Given the description of an element on the screen output the (x, y) to click on. 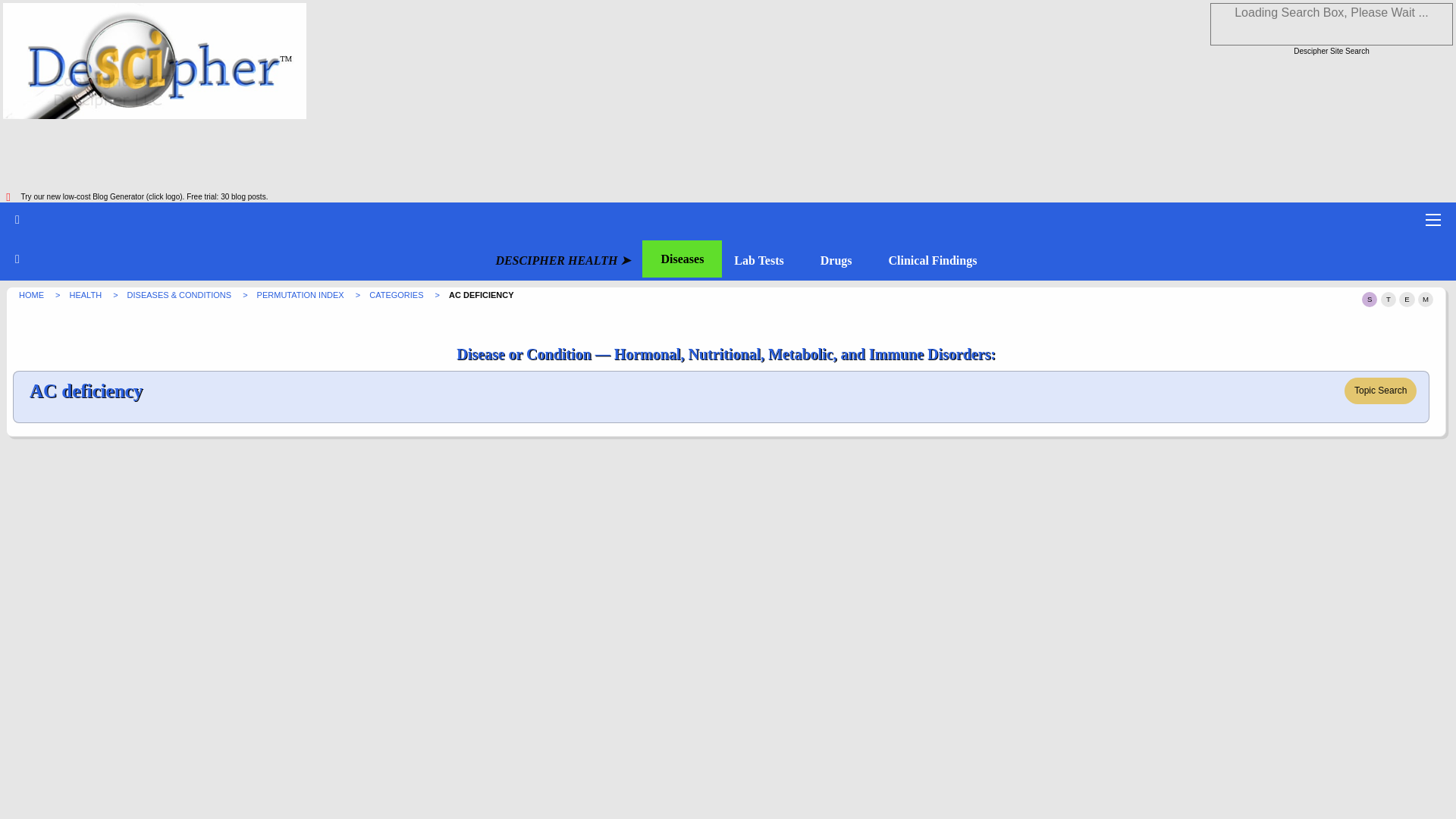
Topic Search (1379, 390)
HEALTH (86, 294)
Diseases (681, 258)
Clinical Findings (933, 260)
PERMUTATION INDEX (301, 294)
CATEGORIES (397, 294)
Lab Tests (758, 260)
Drugs (836, 260)
HOME (32, 294)
